Given the description of an element on the screen output the (x, y) to click on. 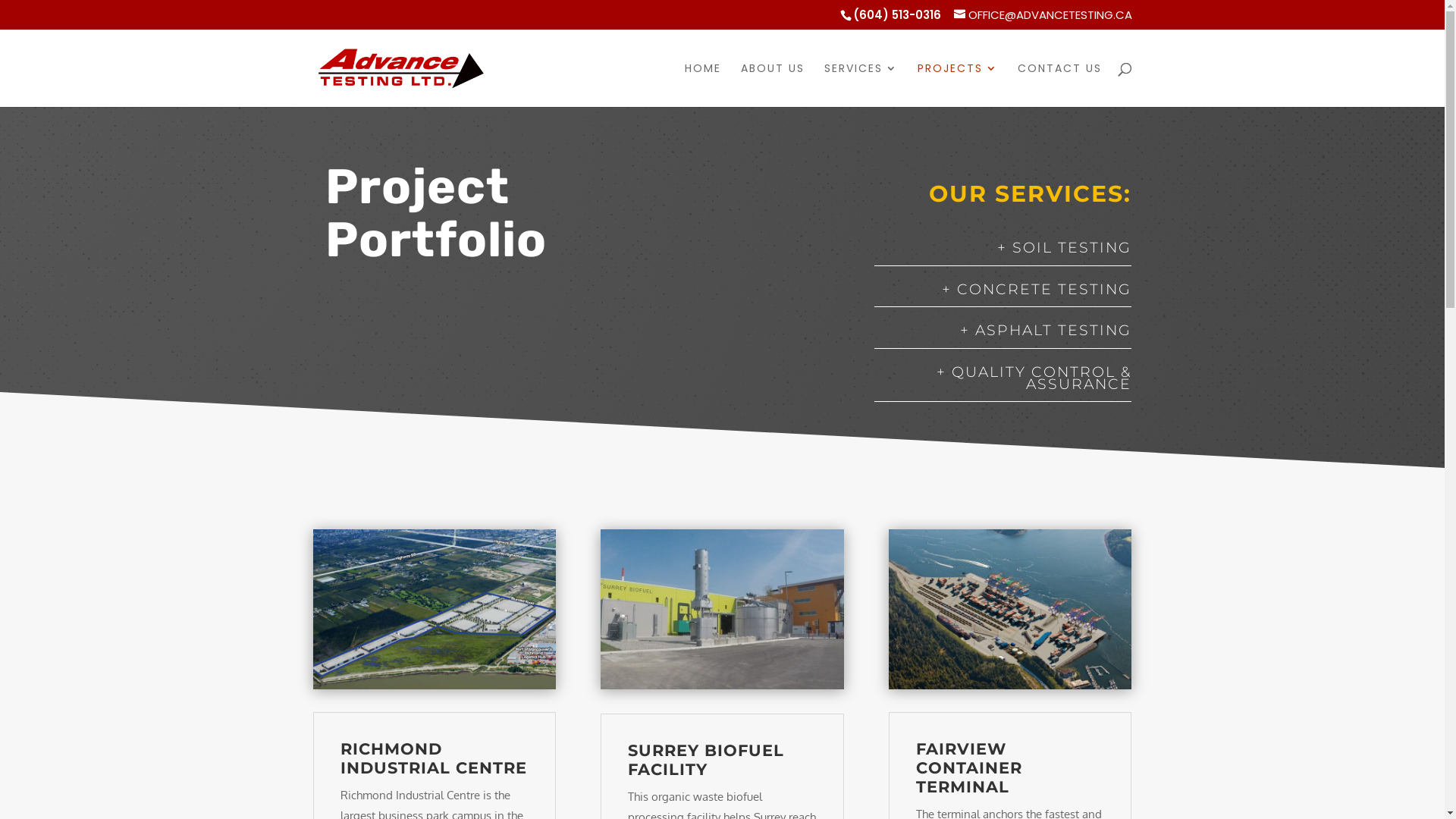
+ ASPHALT TESTING Element type: text (1045, 329)
CONTACT US Element type: text (1059, 84)
+ CONCRETE TESTING Element type: text (1036, 289)
+ QUALITY CONTROL & ASSURANCE Element type: text (1033, 377)
HOME Element type: text (702, 84)
SERVICES Element type: text (860, 84)
PROJECTS Element type: text (957, 84)
ABOUT US Element type: text (771, 84)
OFFICE@ADVANCETESTING.CA Element type: text (1042, 14)
+ SOIL TESTING Element type: text (1064, 247)
